Given the description of an element on the screen output the (x, y) to click on. 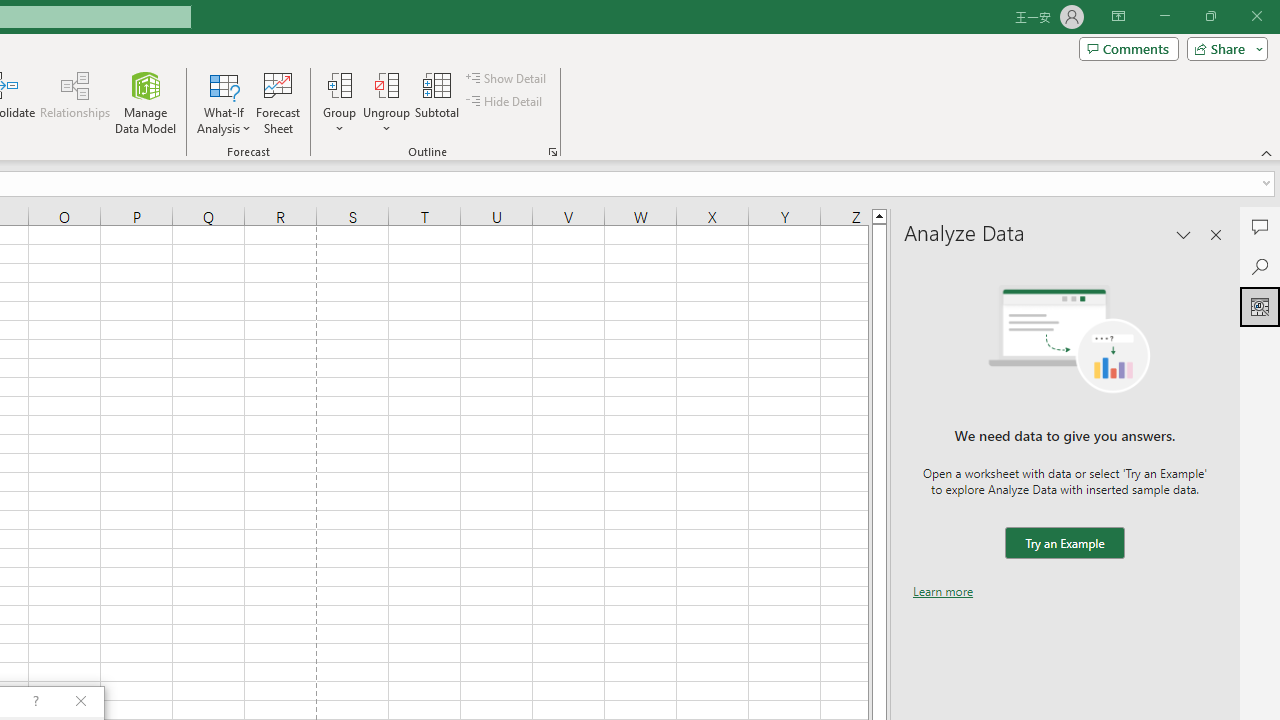
Ungroup... (386, 102)
Manage Data Model (145, 102)
Line up (879, 215)
Group and Outline Settings (552, 151)
Task Pane Options (1183, 234)
Close pane (1215, 234)
Show Detail (507, 78)
What-If Analysis (223, 102)
Learn more (943, 591)
Share (1223, 48)
Ungroup... (386, 84)
We need data to give you answers. Try an Example (1064, 543)
Comments (1128, 48)
Minimize (1164, 16)
Ribbon Display Options (1118, 16)
